Given the description of an element on the screen output the (x, y) to click on. 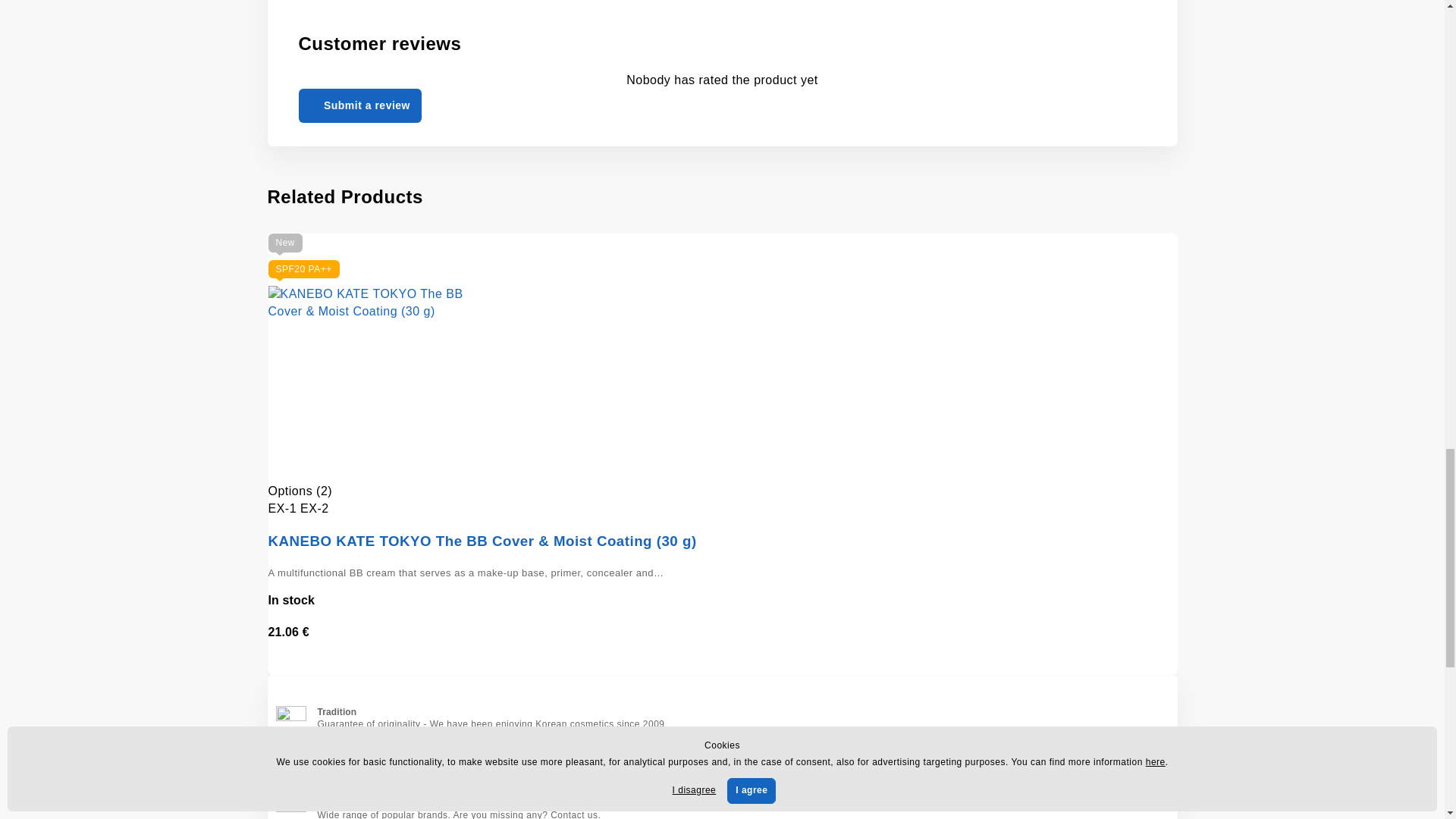
Remove from comparison (729, 664)
Detail (1139, 626)
Add to Favourites (715, 664)
